Given the description of an element on the screen output the (x, y) to click on. 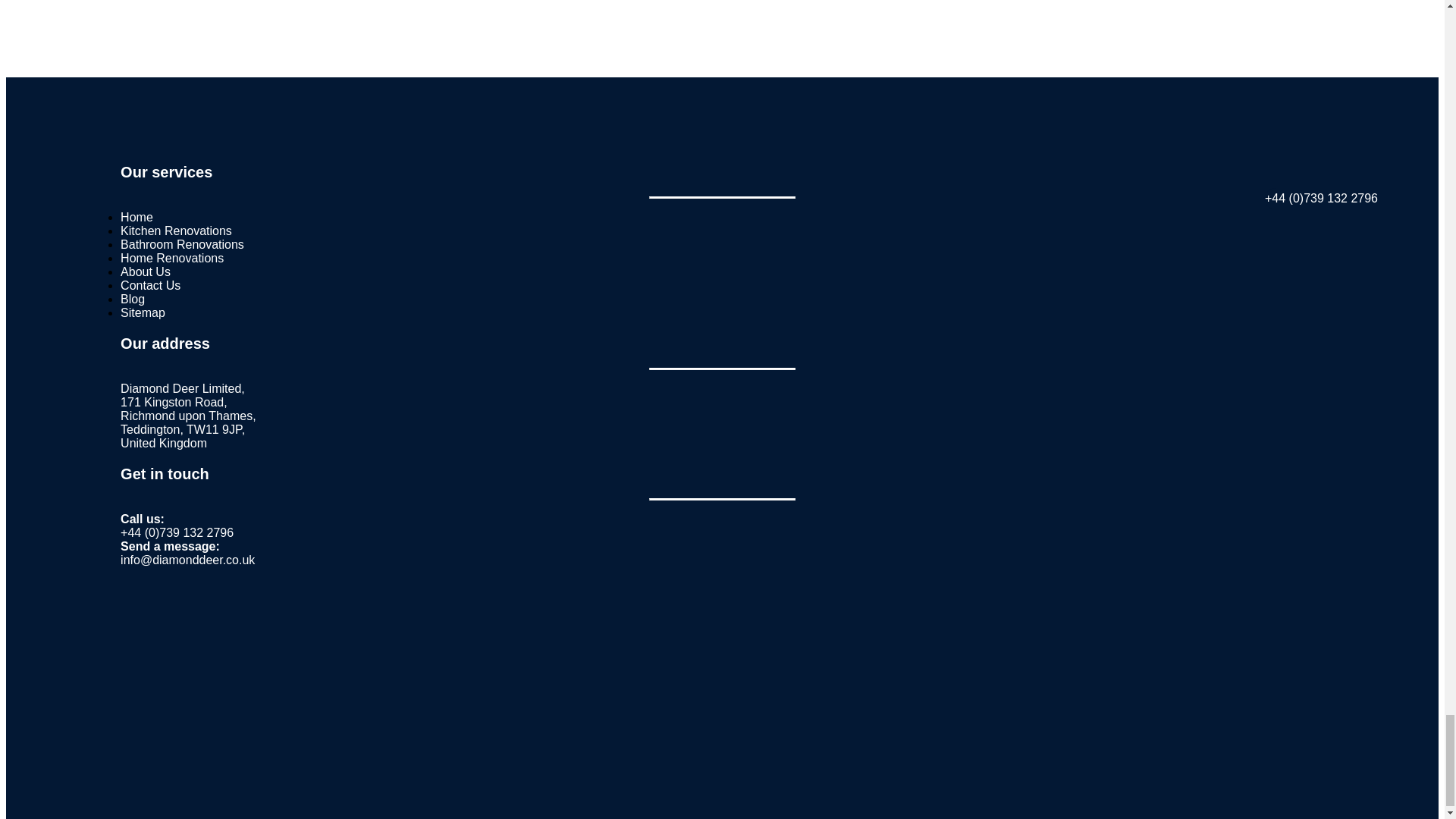
Bathroom Renovations (182, 244)
Home (136, 216)
About Us (145, 271)
Blog (132, 298)
Kitchen Renovations (175, 230)
Home Renovations (172, 257)
Sitemap (142, 312)
Contact Us (150, 285)
